Given the description of an element on the screen output the (x, y) to click on. 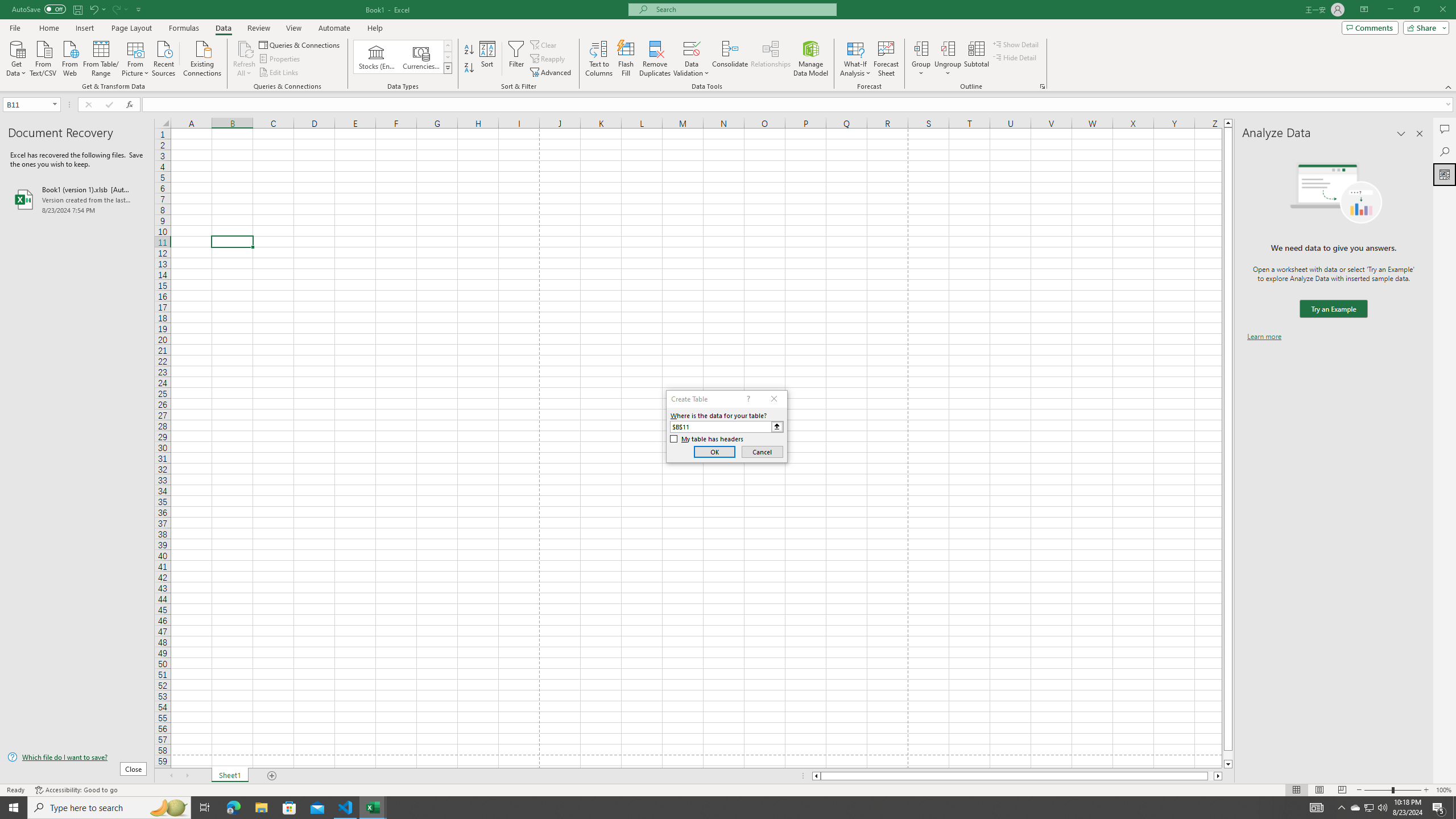
We need data to give you answers. Try an Example (1333, 308)
Subtotal (976, 58)
Existing Connections (202, 57)
From Web (69, 57)
